Given the description of an element on the screen output the (x, y) to click on. 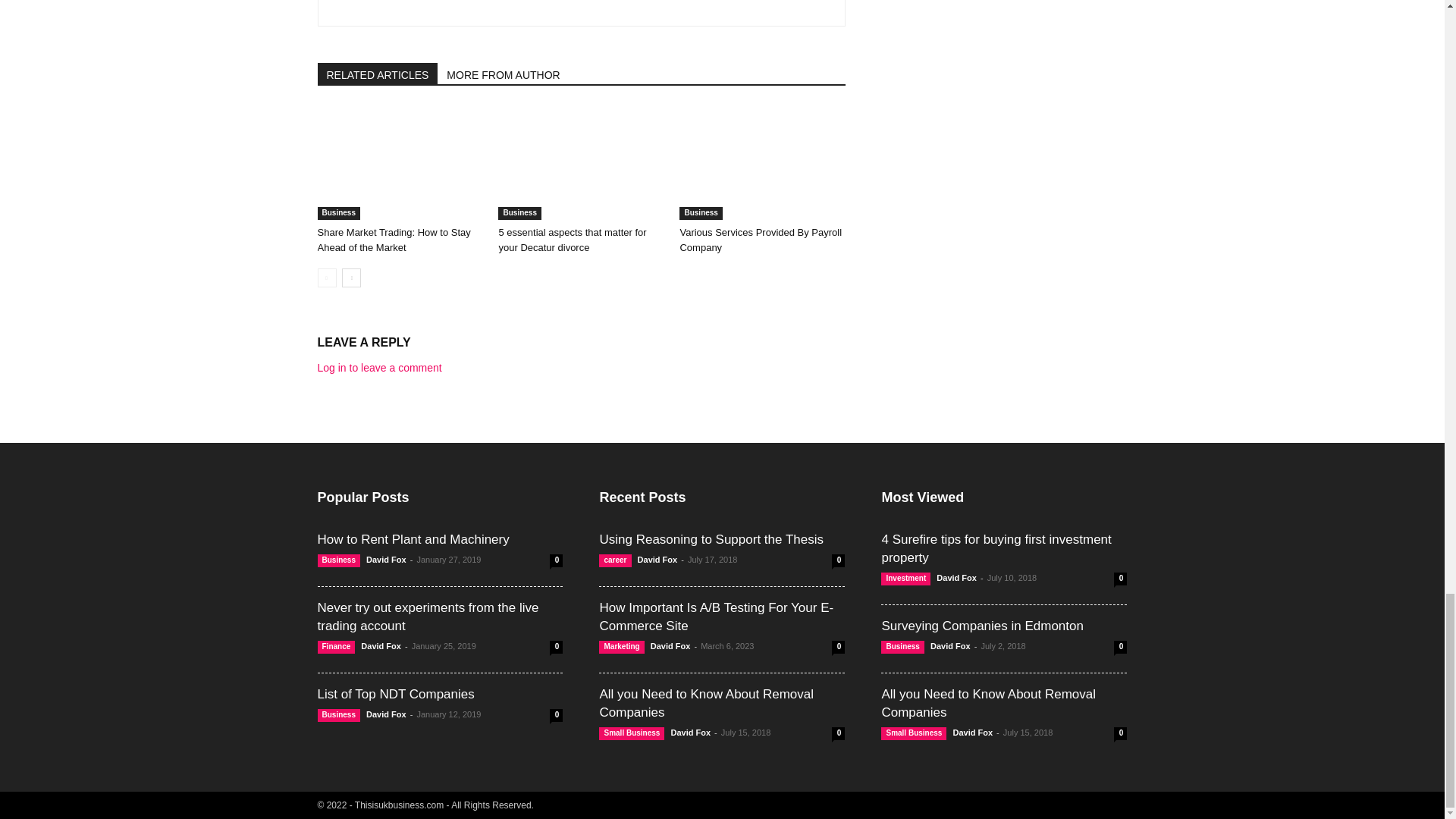
Share Market Trading: How to Stay Ahead of the Market (399, 163)
